Given the description of an element on the screen output the (x, y) to click on. 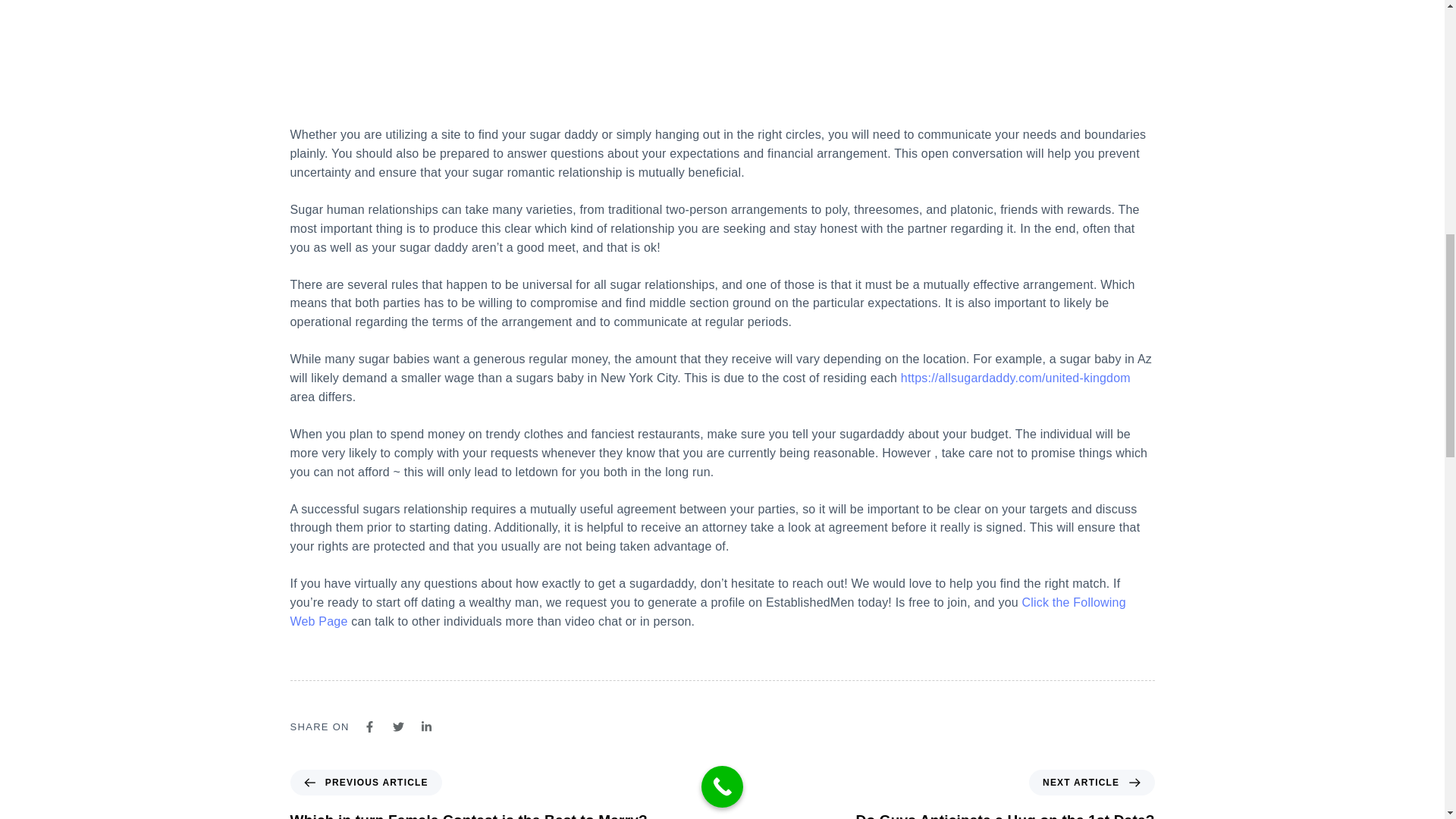
Click the Following Web Page (707, 612)
